Given the description of an element on the screen output the (x, y) to click on. 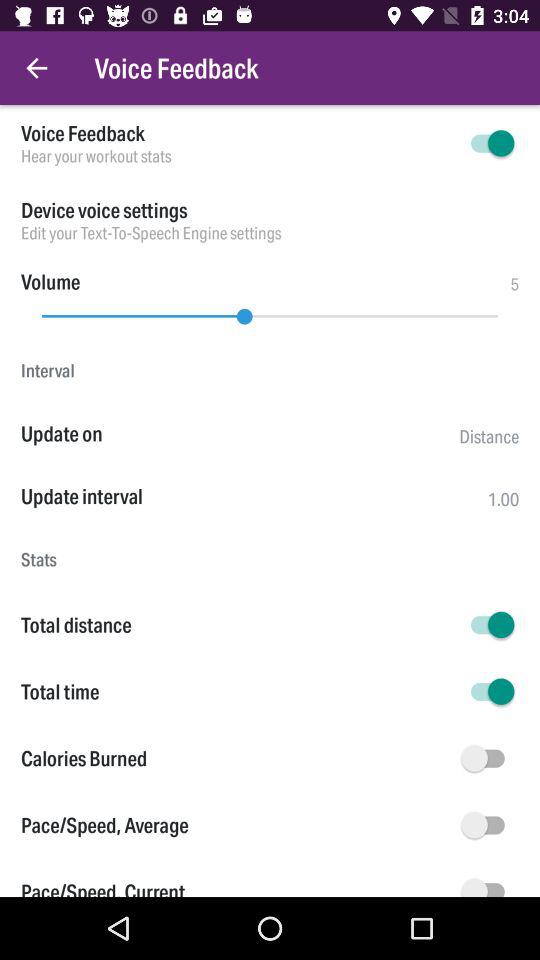
turn off the item next to the 1.00 (254, 495)
